Given the description of an element on the screen output the (x, y) to click on. 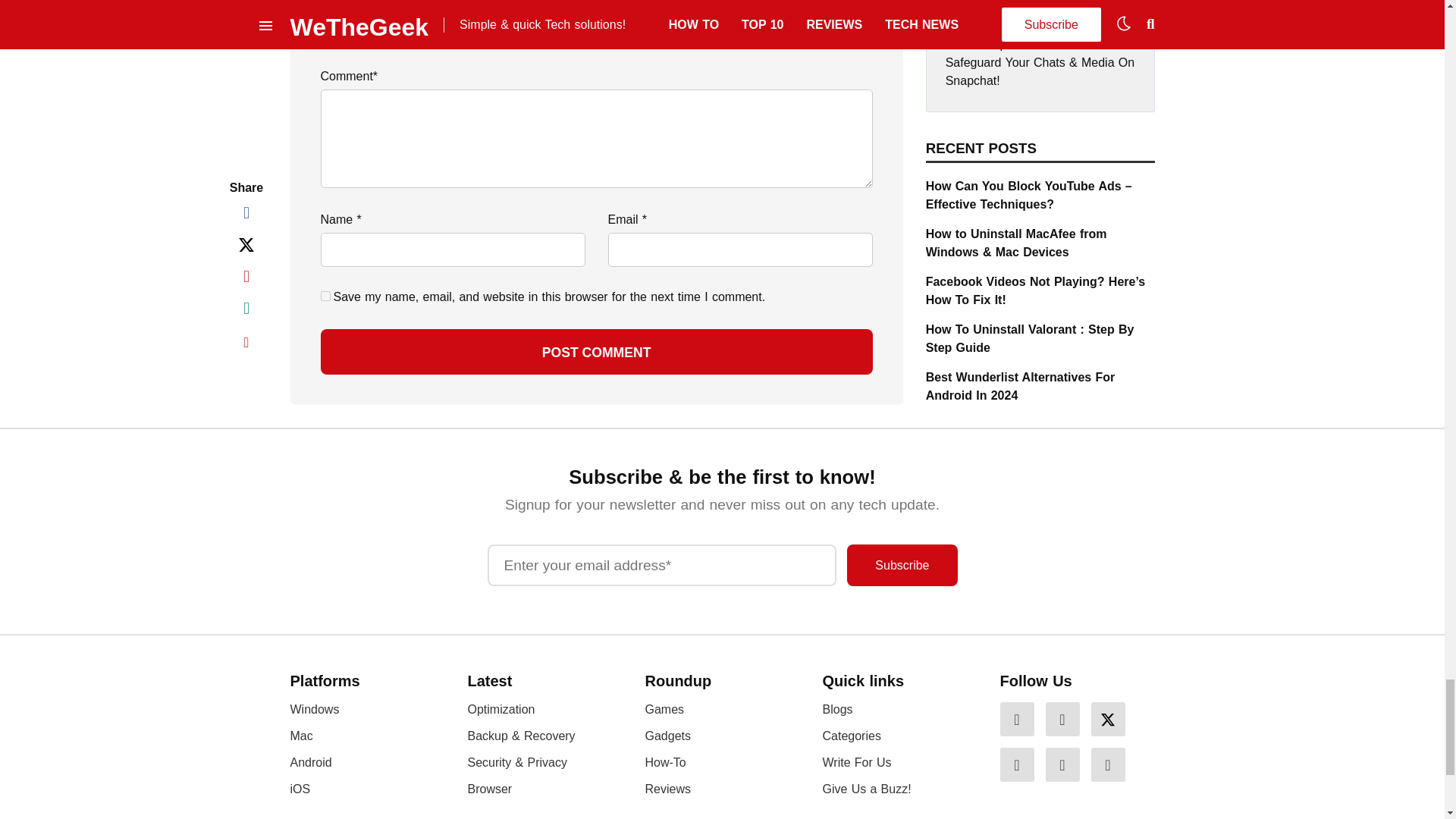
Post Comment (596, 351)
yes (325, 296)
Subscribe (901, 565)
